Given the description of an element on the screen output the (x, y) to click on. 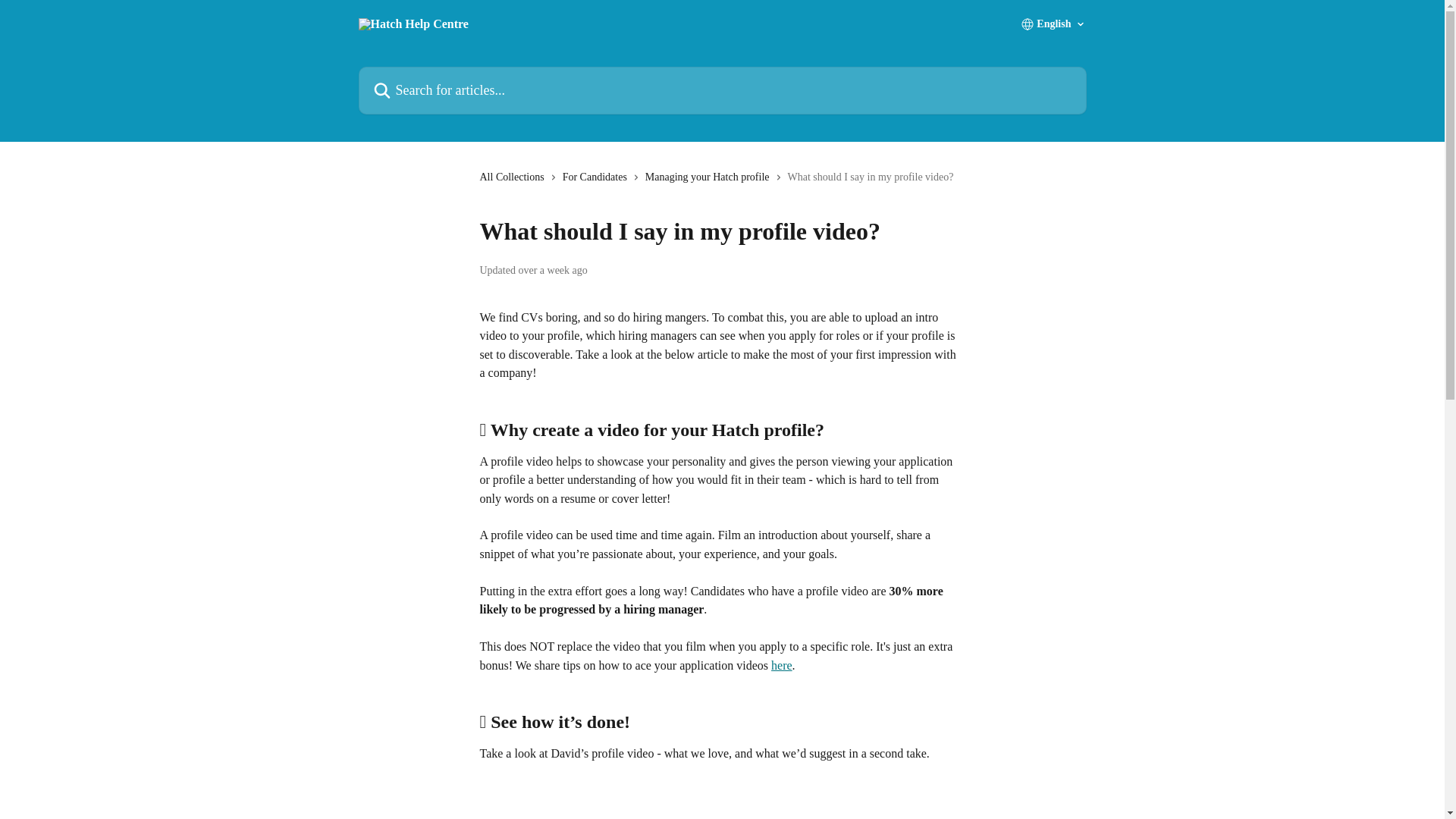
All Collections (514, 176)
Managing your Hatch profile (710, 176)
here (781, 665)
For Candidates (597, 176)
